Given the description of an element on the screen output the (x, y) to click on. 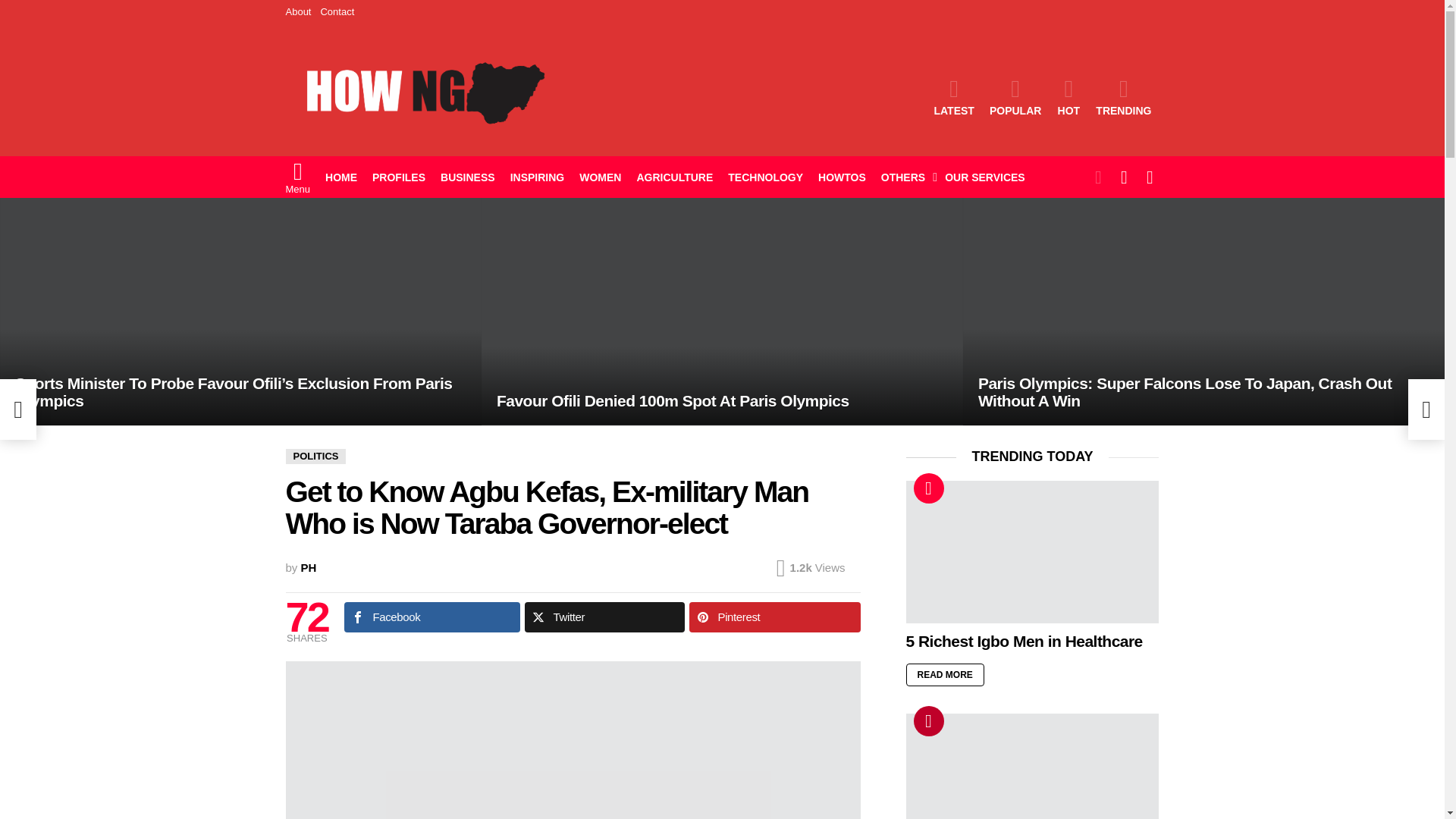
TRENDING (1122, 96)
Favour Ofili Denied 100m Spot At Paris Olympics (672, 400)
AGRICULTURE (674, 177)
HOME (341, 177)
About (298, 12)
OUR SERVICES (984, 177)
Favour Ofili Denied 100m Spot At Paris Olympics (721, 311)
WOMEN (600, 177)
Contact (336, 12)
HOT (1067, 96)
TECHNOLOGY (765, 177)
HOWTOS (841, 177)
POPULAR (1014, 96)
INSPIRING (537, 177)
LATEST (953, 96)
